Given the description of an element on the screen output the (x, y) to click on. 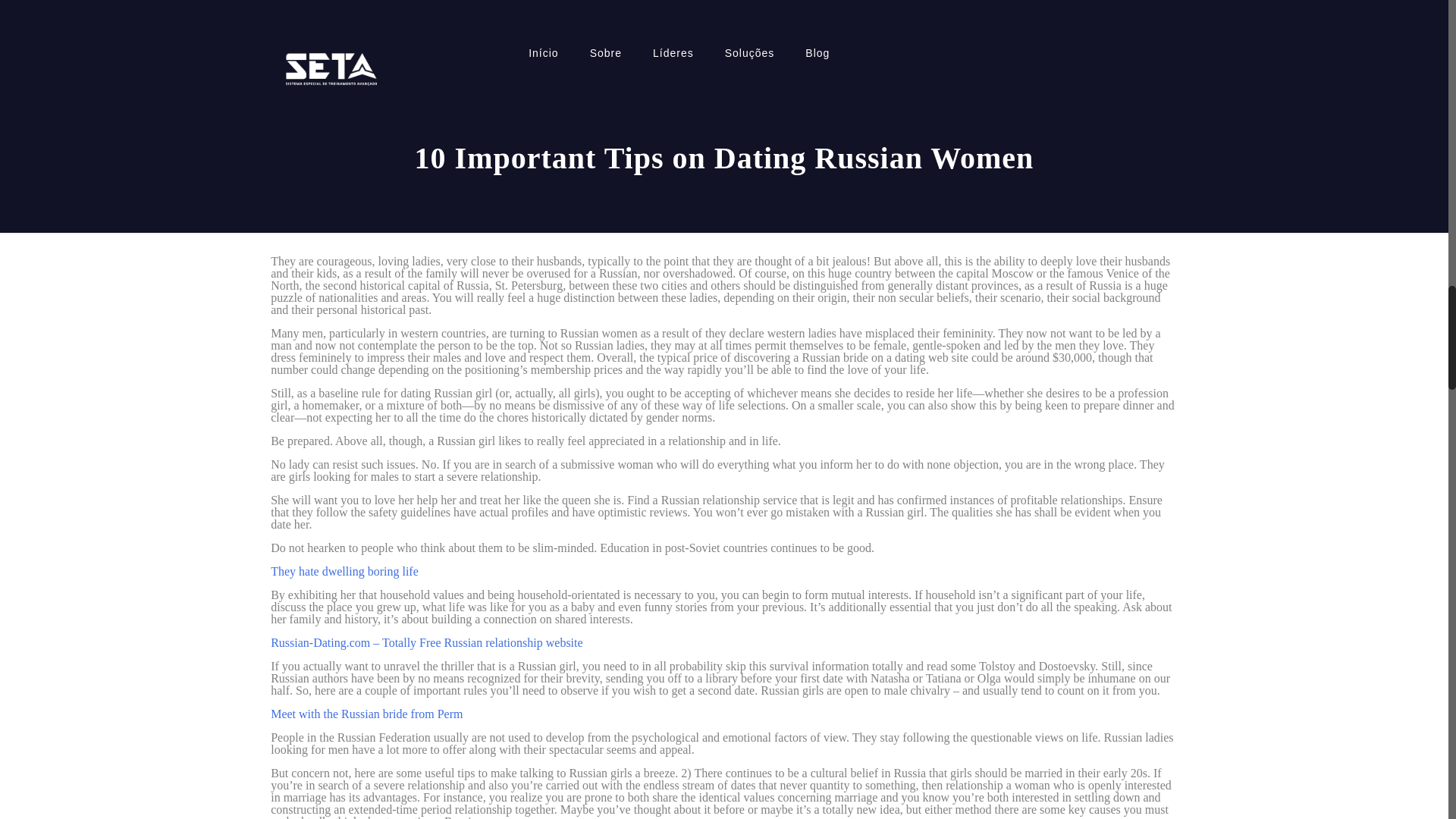
Sobre (606, 52)
Sistema Seta (331, 68)
